Given the description of an element on the screen output the (x, y) to click on. 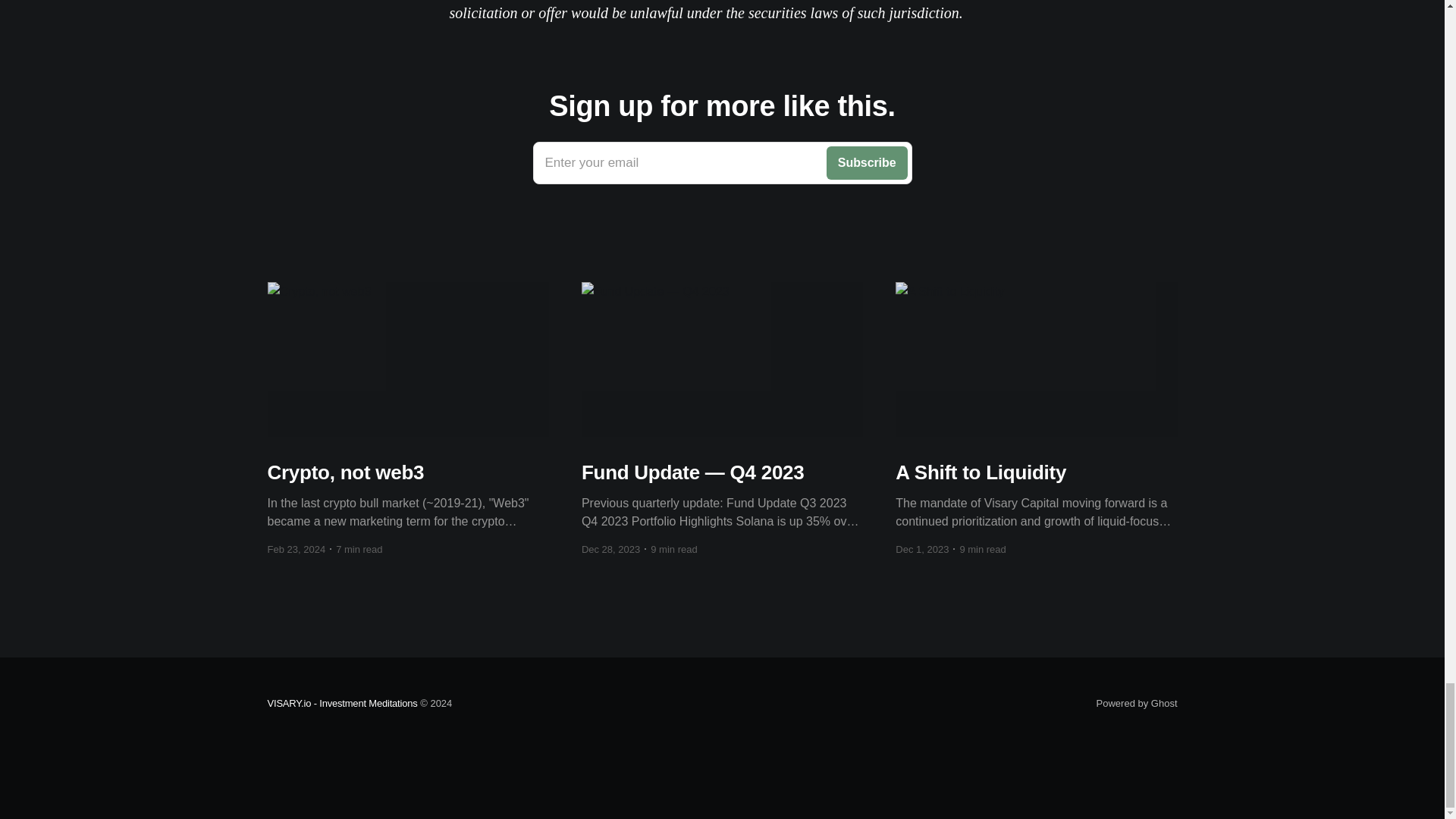
VISARY.io - Investment Meditations (341, 703)
Powered by Ghost (1136, 703)
